Given the description of an element on the screen output the (x, y) to click on. 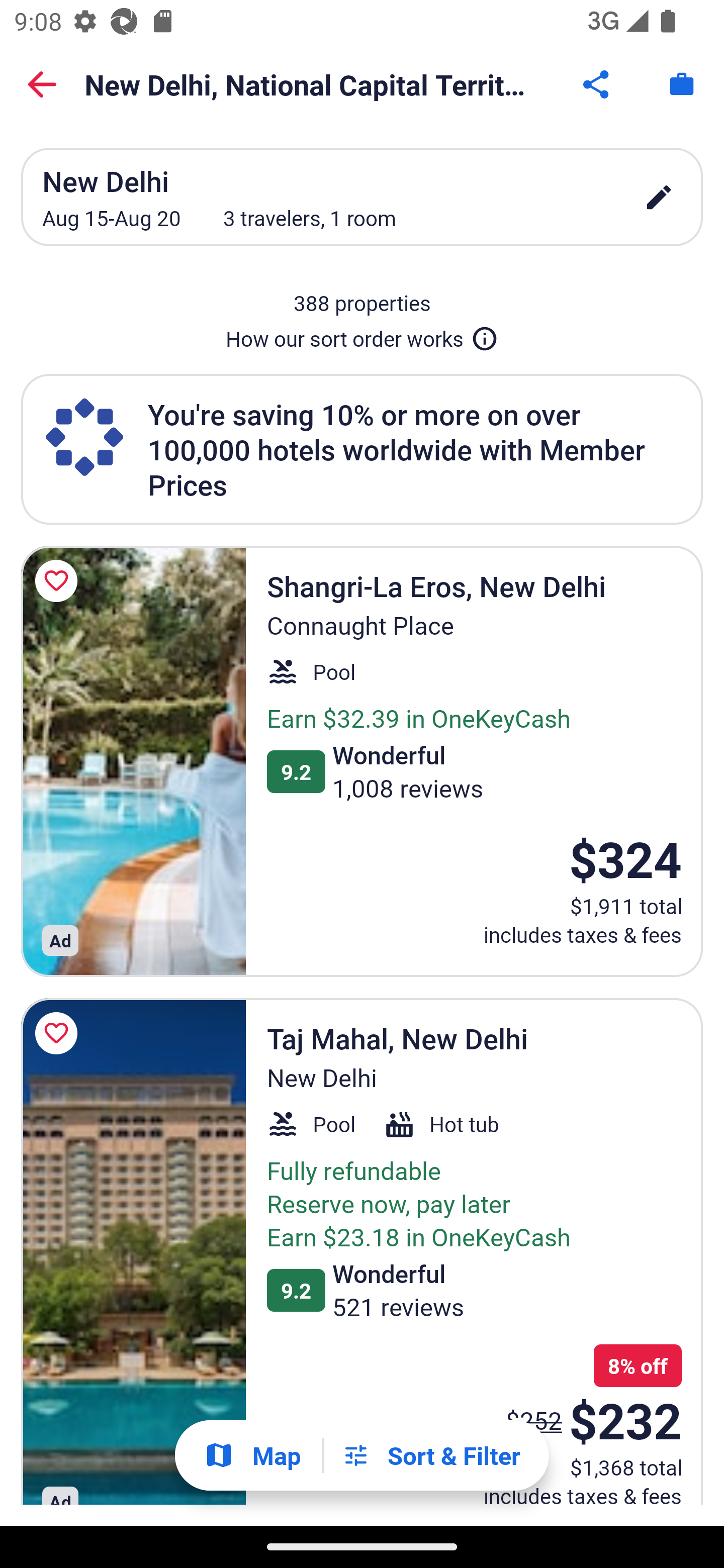
Back (42, 84)
Share Button (597, 84)
Trips. Button (681, 84)
New Delhi Aug 15-Aug 20 3 travelers, 1 room edit (361, 196)
How our sort order works (361, 334)
Save Shangri-La Eros, New Delhi to a trip (59, 580)
Shangri-La Eros, New Delhi (133, 760)
Save Taj Mahal, New Delhi to a trip (59, 1032)
Taj Mahal, New Delhi (133, 1251)
Filters Sort & Filter Filters Button (430, 1455)
Show map Map Show map Button (252, 1455)
